Given the description of an element on the screen output the (x, y) to click on. 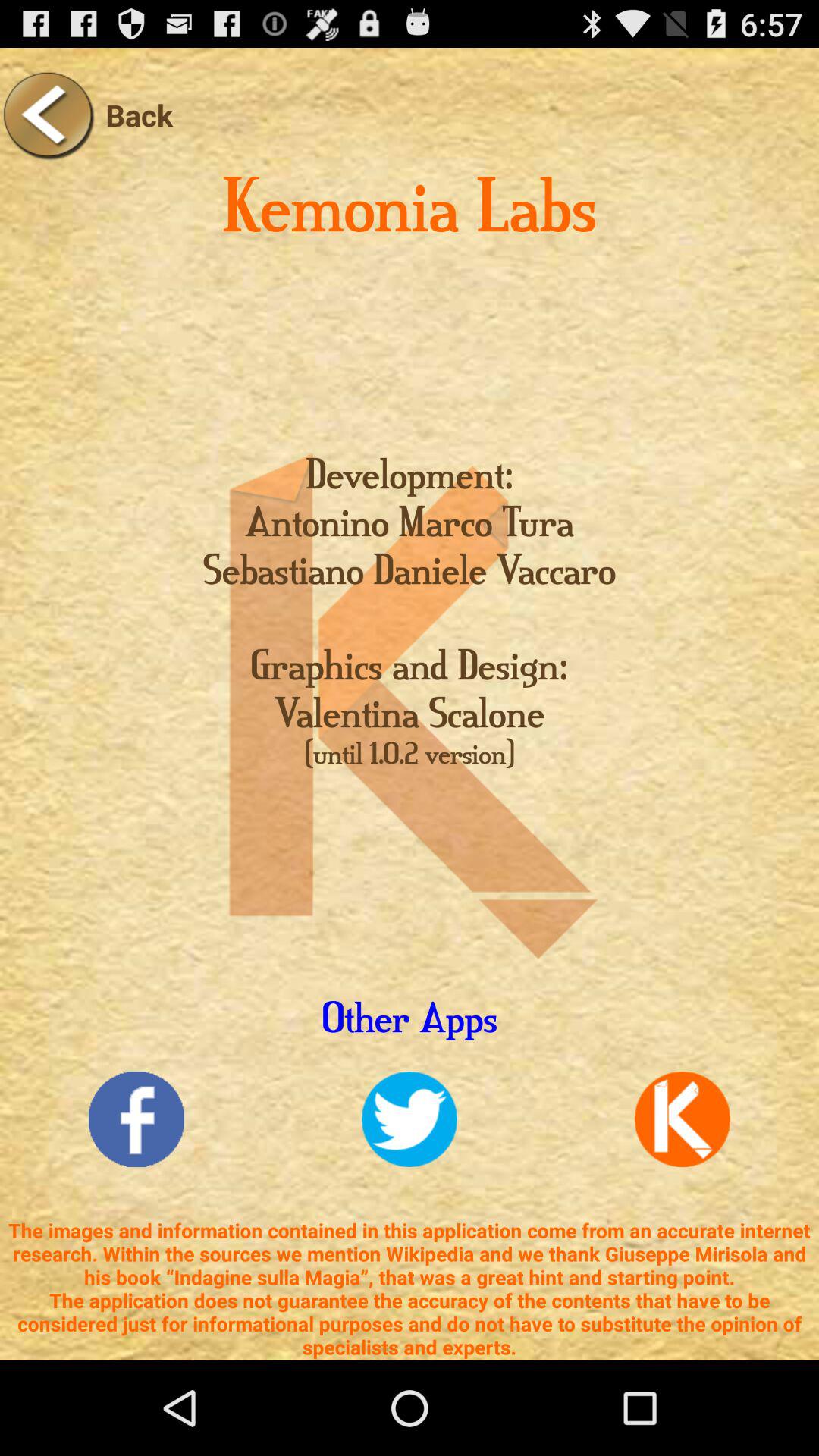
communication icon (682, 1119)
